Given the description of an element on the screen output the (x, y) to click on. 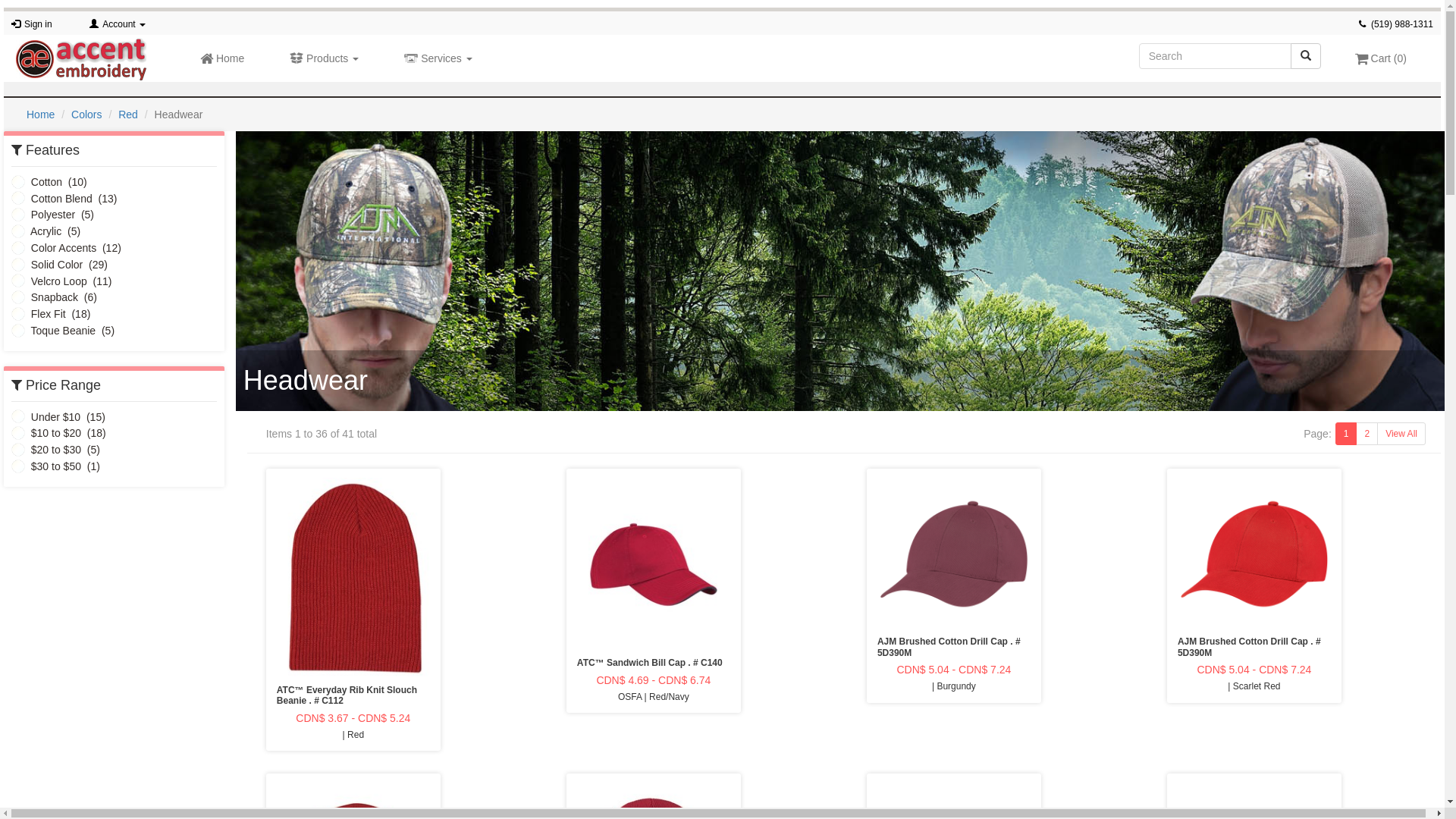
1 Element type: text (1346, 433)
AJM Brushed Cotton Drill Cap . # 5D390M Element type: text (1253, 647)
  Color Accents  (12) Element type: text (66, 247)
Colors Element type: text (86, 114)
  Acrylic  (5) Element type: text (45, 231)
Home Element type: text (221, 58)
AJM Brushed Cotton Drill Cap . # 5D390M Element type: text (953, 647)
Products Element type: text (324, 58)
Cart (0) Element type: text (1380, 58)
Red Element type: text (128, 114)
  $30 to $50  (1) Element type: text (55, 466)
  $20 to $30  (5) Element type: text (55, 449)
Home Element type: text (40, 114)
2 Element type: text (1366, 433)
  Solid Color  (29) Element type: text (59, 264)
  Toque Beanie  (5) Element type: text (62, 330)
Sign in Element type: text (38, 23)
  Polyester  (5) Element type: text (52, 214)
  Cotton Blend  (13) Element type: text (63, 198)
  Flex Fit  (18) Element type: text (50, 313)
Account Element type: text (123, 23)
  Cotton  (10) Element type: text (49, 181)
Services Element type: text (437, 58)
AJM Brushed Cotton Drill Cap Element type: hover (1254, 554)
  Snapback  (6) Element type: text (54, 297)
AJM Brushed Cotton Drill Cap Element type: hover (953, 554)
  Velcro Loop  (11) Element type: text (61, 281)
  $10 to $20  (18) Element type: text (58, 432)
View All Element type: text (1401, 433)
  Under $10  (15) Element type: text (58, 417)
